Given the description of an element on the screen output the (x, y) to click on. 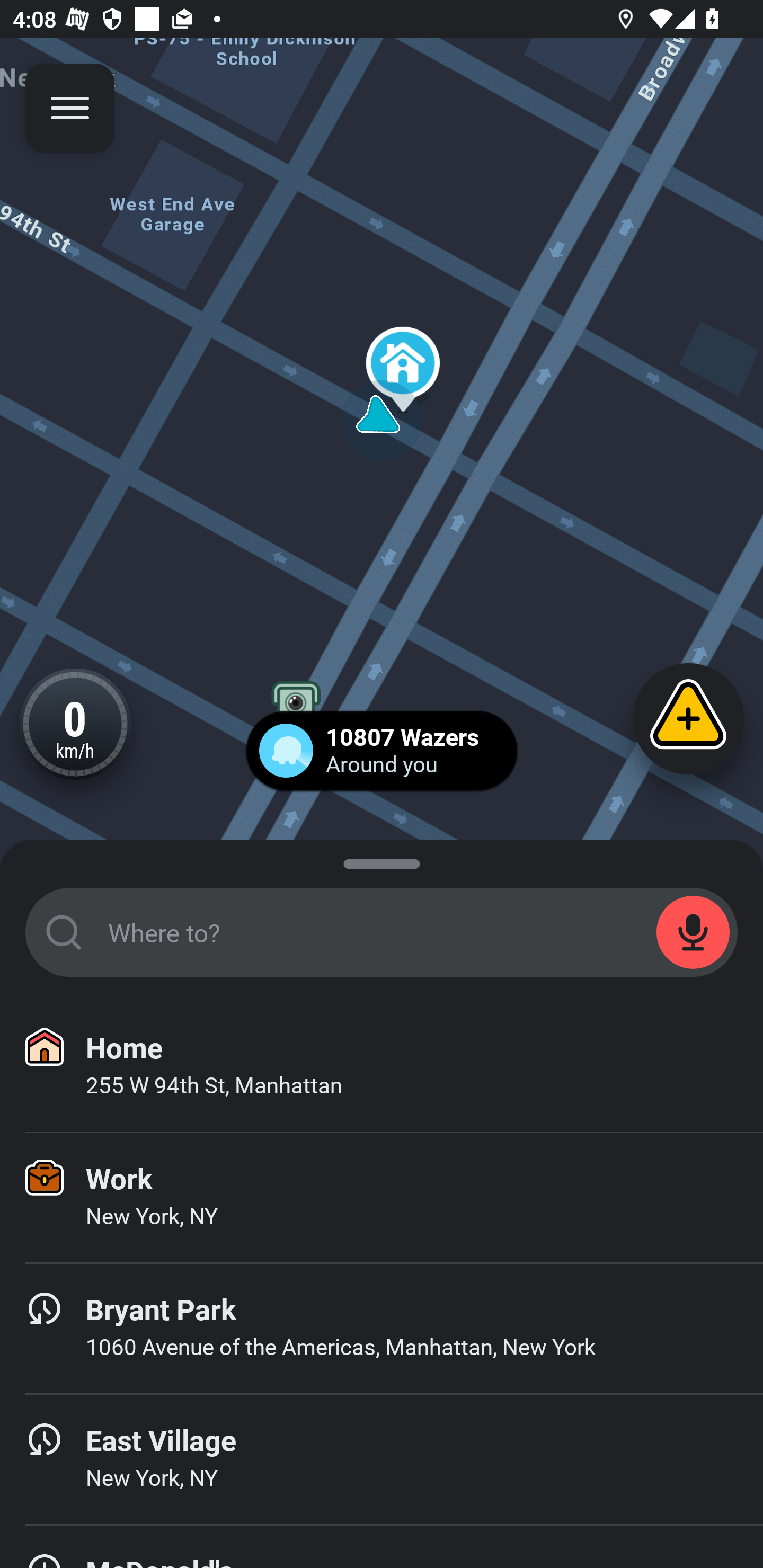
SUGGESTIONS_SHEET_DRAG_HANDLE (381, 860)
START_STATE_SEARCH_FIELD Where to? (381, 931)
Home 255 W 94th St, Manhattan (381, 1066)
Work New York, NY (381, 1197)
East Village New York, NY (381, 1459)
